Given the description of an element on the screen output the (x, y) to click on. 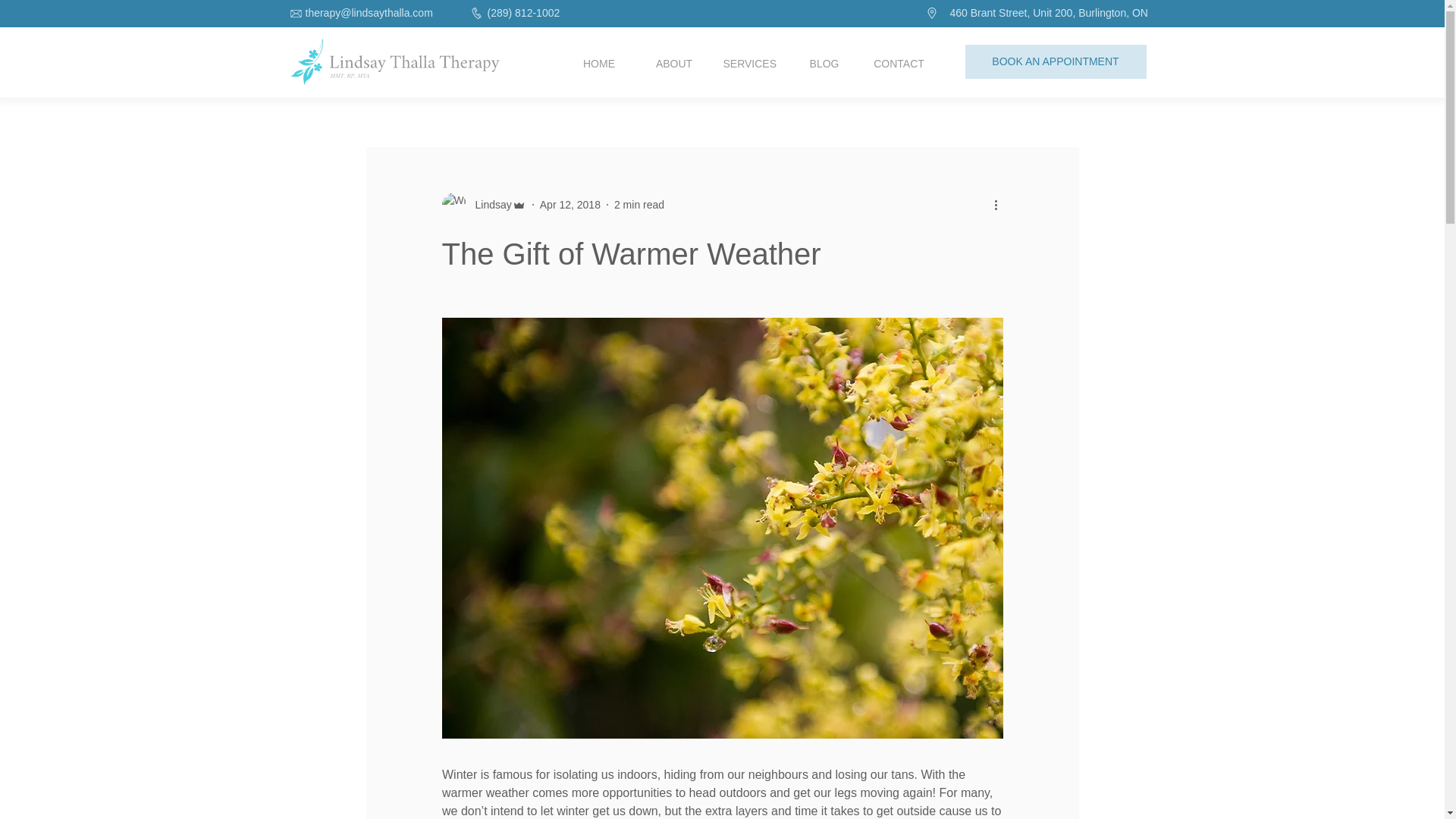
CONTACT (898, 63)
Apr 12, 2018 (569, 204)
HOME (598, 63)
Lindsay (488, 204)
BLOG (824, 63)
ABOUT (674, 63)
460 Brant Street, Unit 200, Burlington, ON (1075, 13)
2 min read (638, 204)
BOOK AN APPOINTMENT (1054, 61)
SERVICES (748, 63)
